Given the description of an element on the screen output the (x, y) to click on. 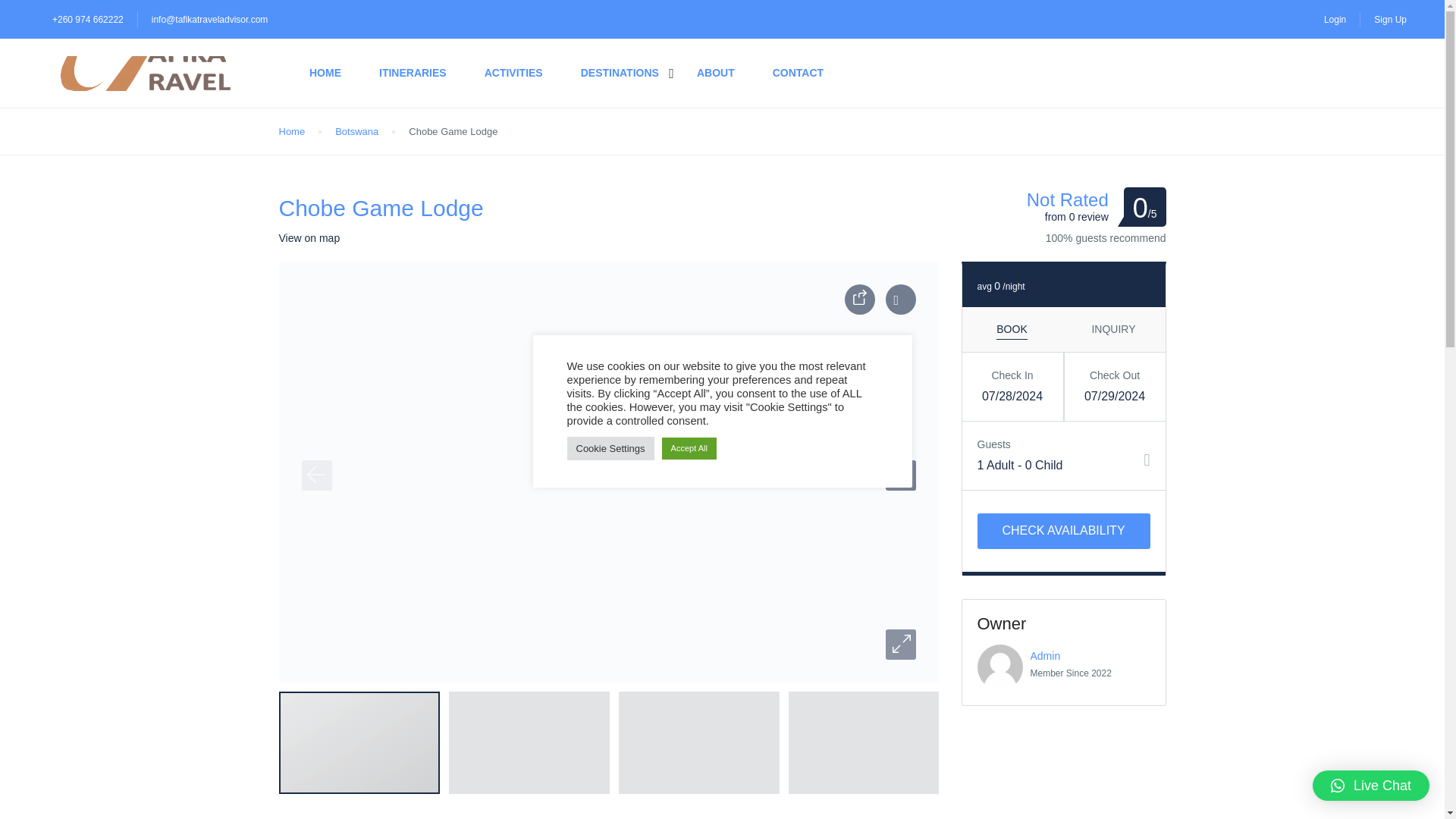
Login (1334, 18)
HOME (324, 72)
Check Availability (1063, 530)
ACTIVITIES (513, 72)
DESTINATIONS (620, 72)
ITINERARIES (412, 72)
Sign Up (1390, 18)
